Given the description of an element on the screen output the (x, y) to click on. 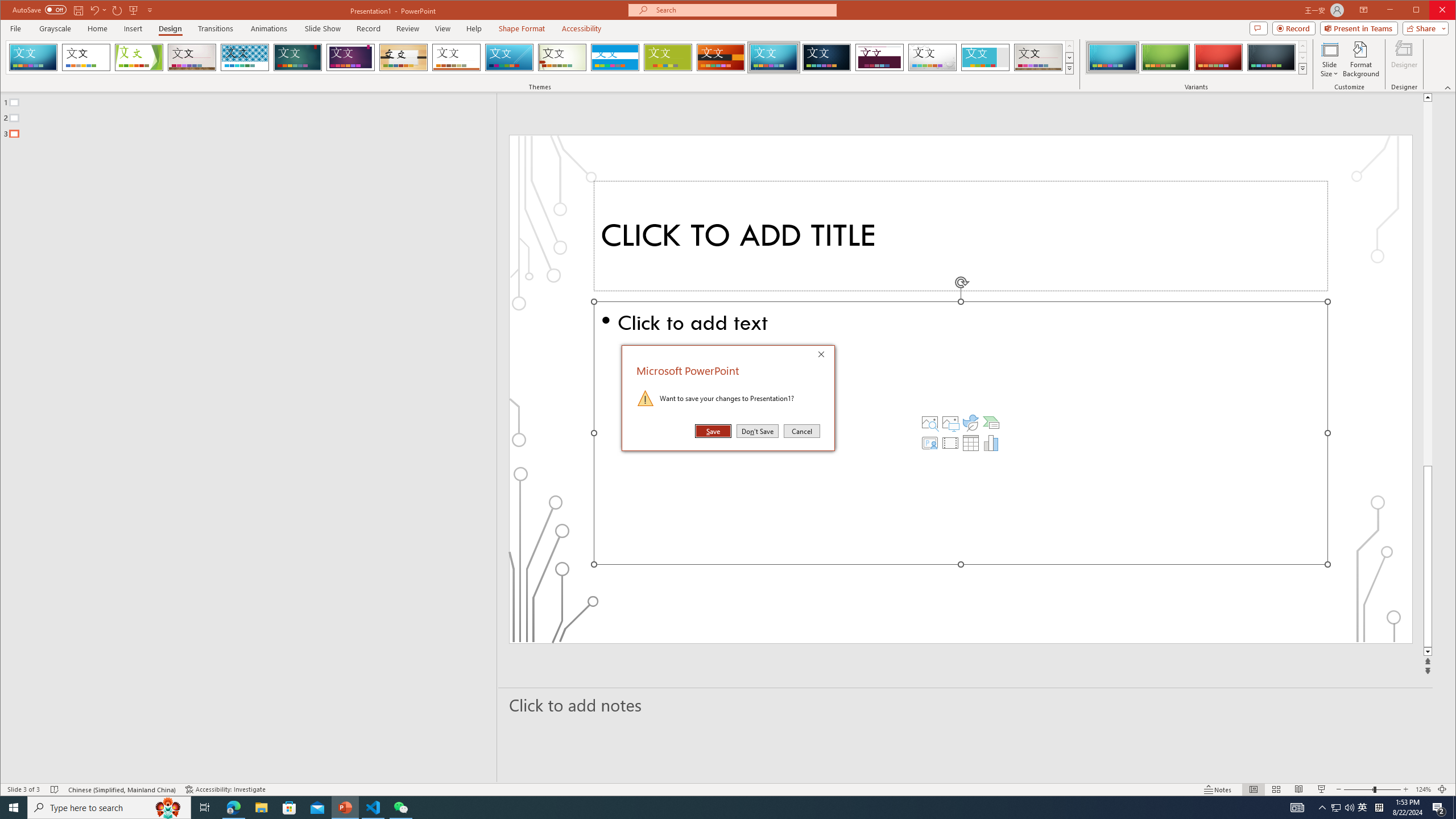
Cancel (801, 431)
Wisp (561, 57)
Designer (1404, 59)
Search highlights icon opens search home window (167, 807)
Action Center, 2 new notifications (1439, 807)
User Promoted Notification Area (1342, 807)
Microsoft Edge - 1 running window (233, 807)
Gallery (1037, 57)
